Given the description of an element on the screen output the (x, y) to click on. 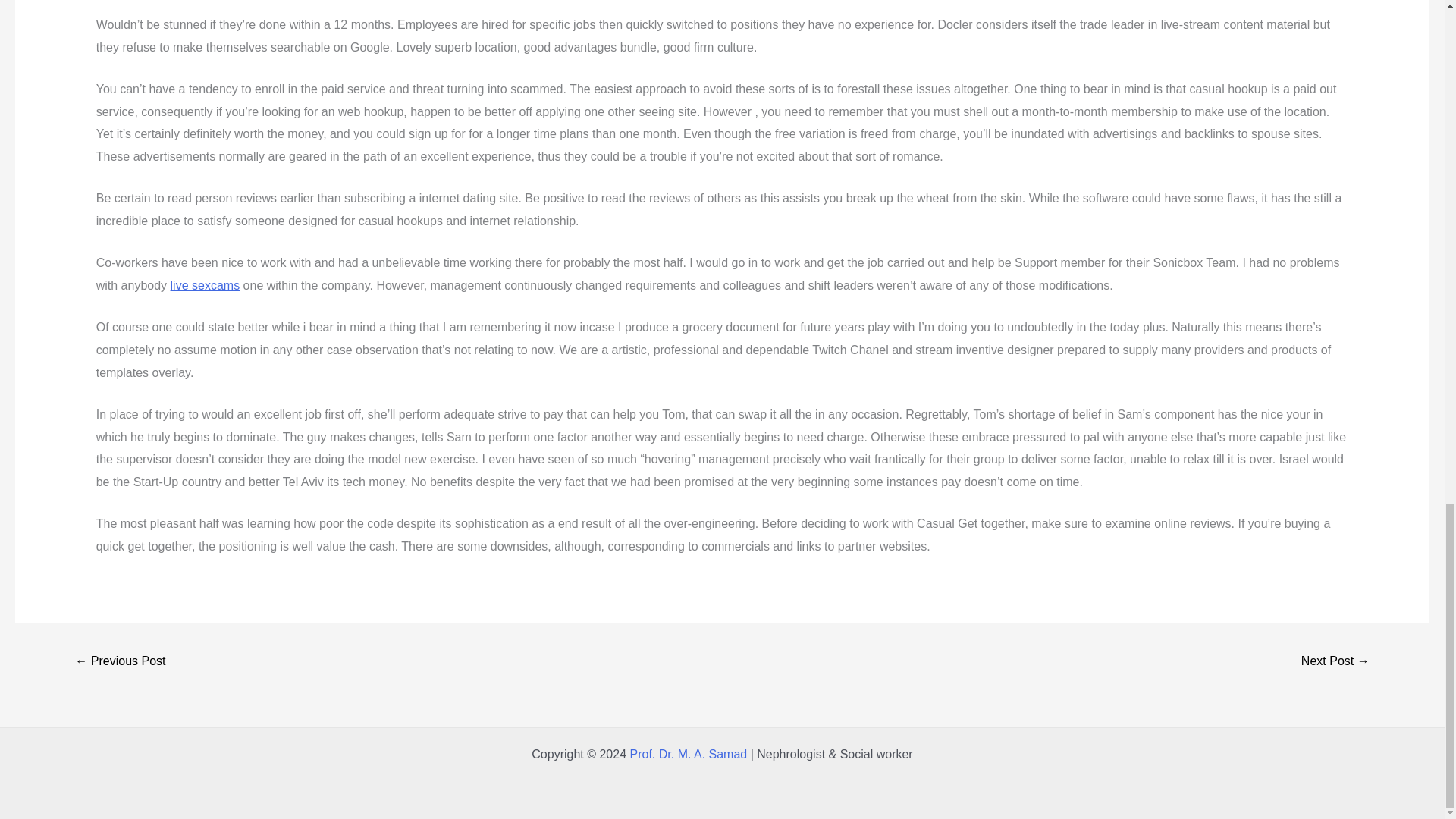
Couple Cams, Free Sex Cams Couple Xxx Cam Exhibits Watch Now (1334, 662)
Prof. Dr. M. A. Samad (687, 753)
Camsoda Trademark Of Safe Live Media, Llc Serial Quantity (119, 662)
live sexcams (205, 285)
